Given the description of an element on the screen output the (x, y) to click on. 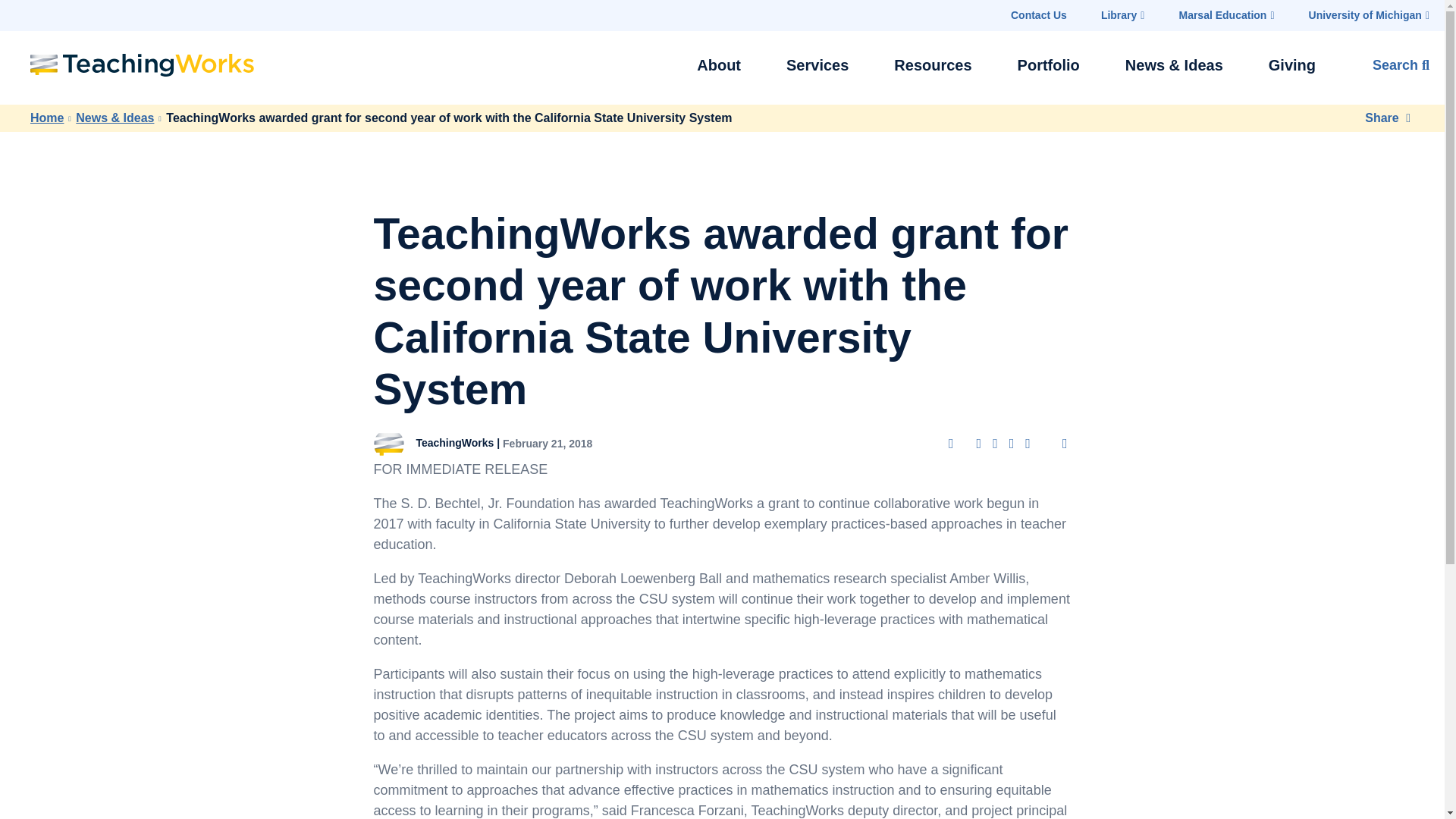
Library (1122, 15)
Contact Us (1038, 15)
Portfolio (1048, 65)
Marsal Education (1225, 15)
Resources (932, 65)
Services (817, 65)
University of Michigan (1368, 15)
